Given the description of an element on the screen output the (x, y) to click on. 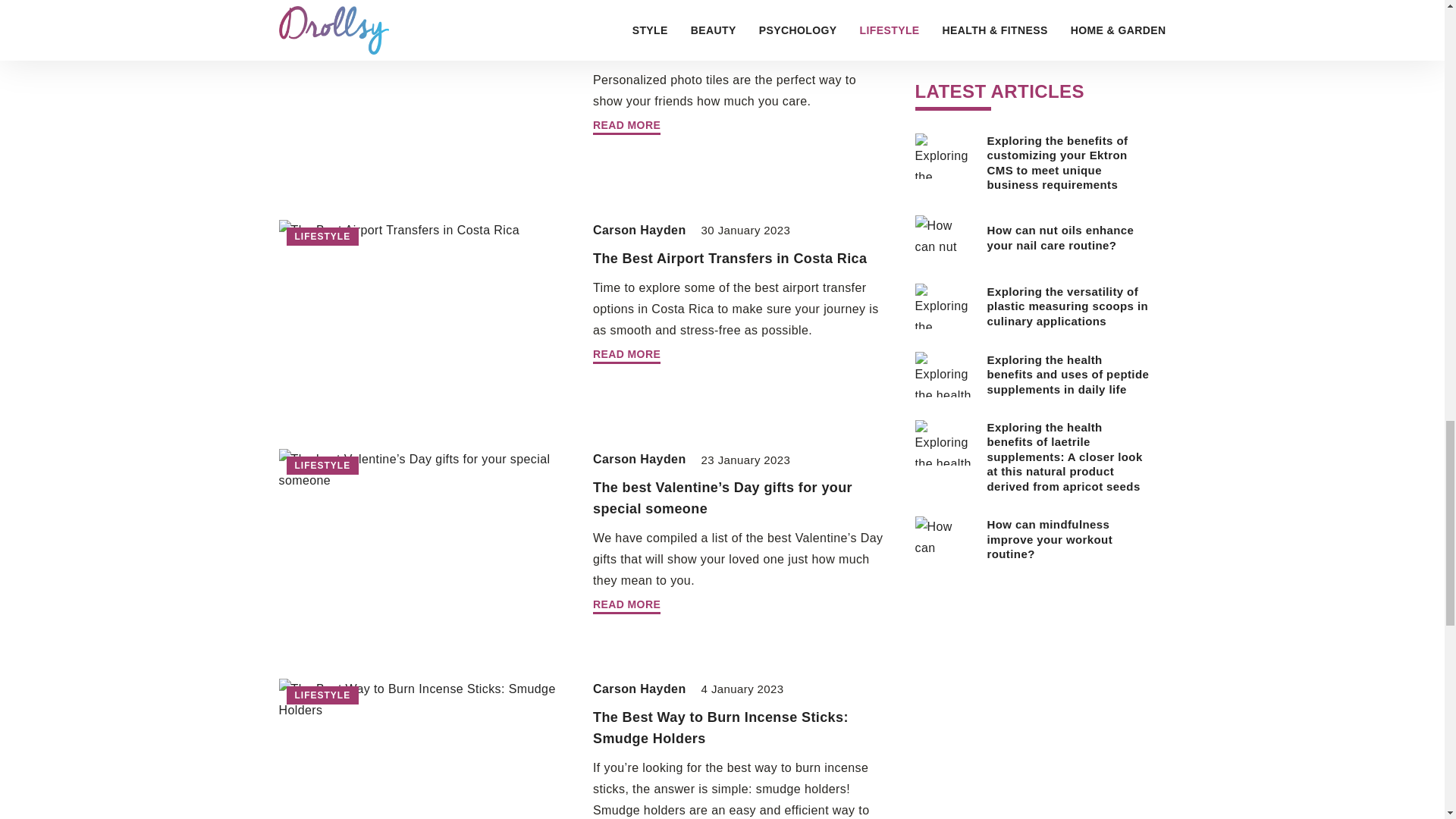
READ MORE (626, 355)
The Best Airport Transfers in Costa Rica (729, 258)
The Perfect Gift for Your Friend: Personalized Photo Tiles (701, 40)
READ MORE (626, 127)
